Given the description of an element on the screen output the (x, y) to click on. 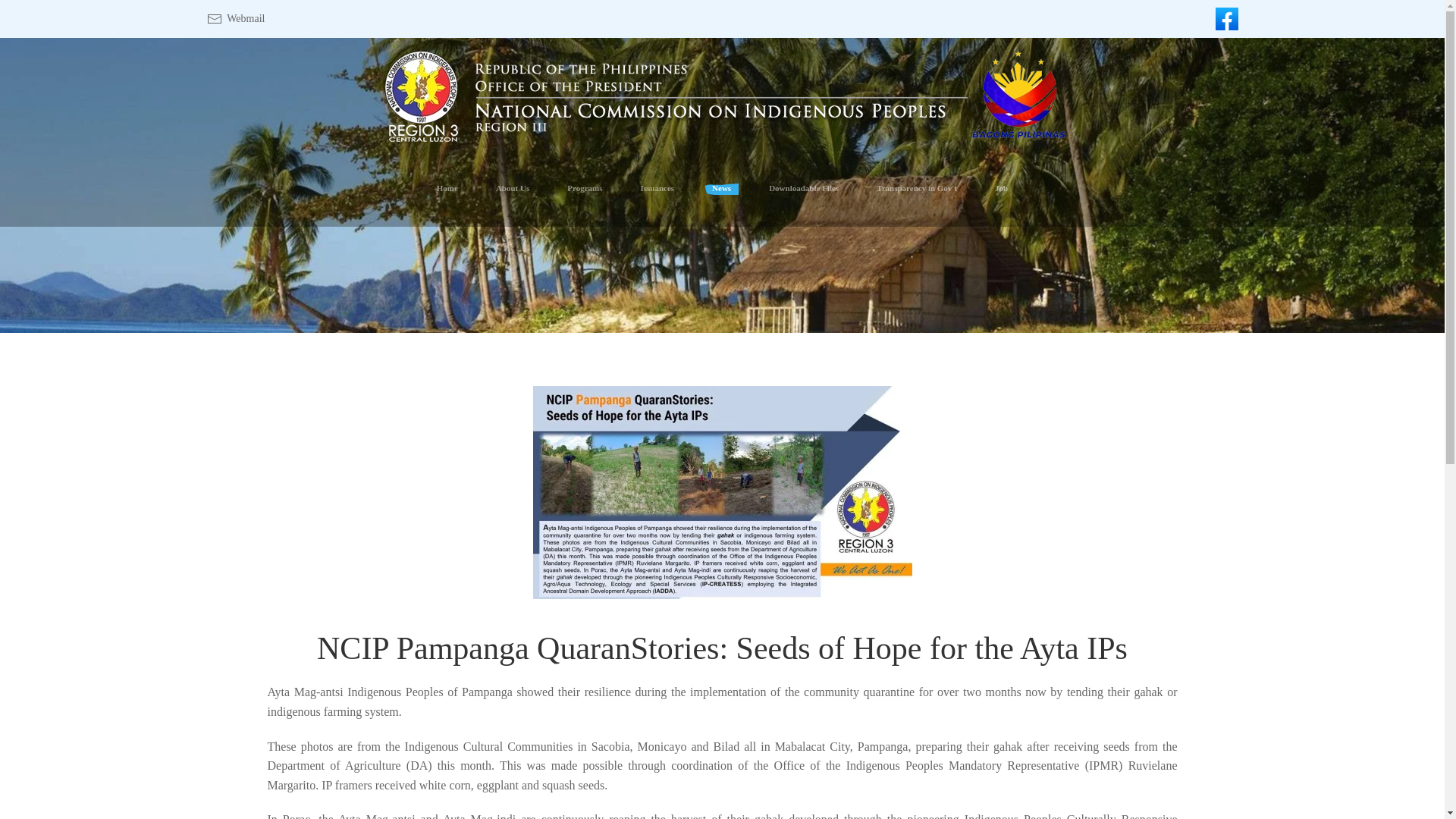
Home (447, 188)
 Webmail (235, 18)
Programs (584, 188)
About Us (512, 188)
News (721, 188)
Issuances (656, 188)
